Given the description of an element on the screen output the (x, y) to click on. 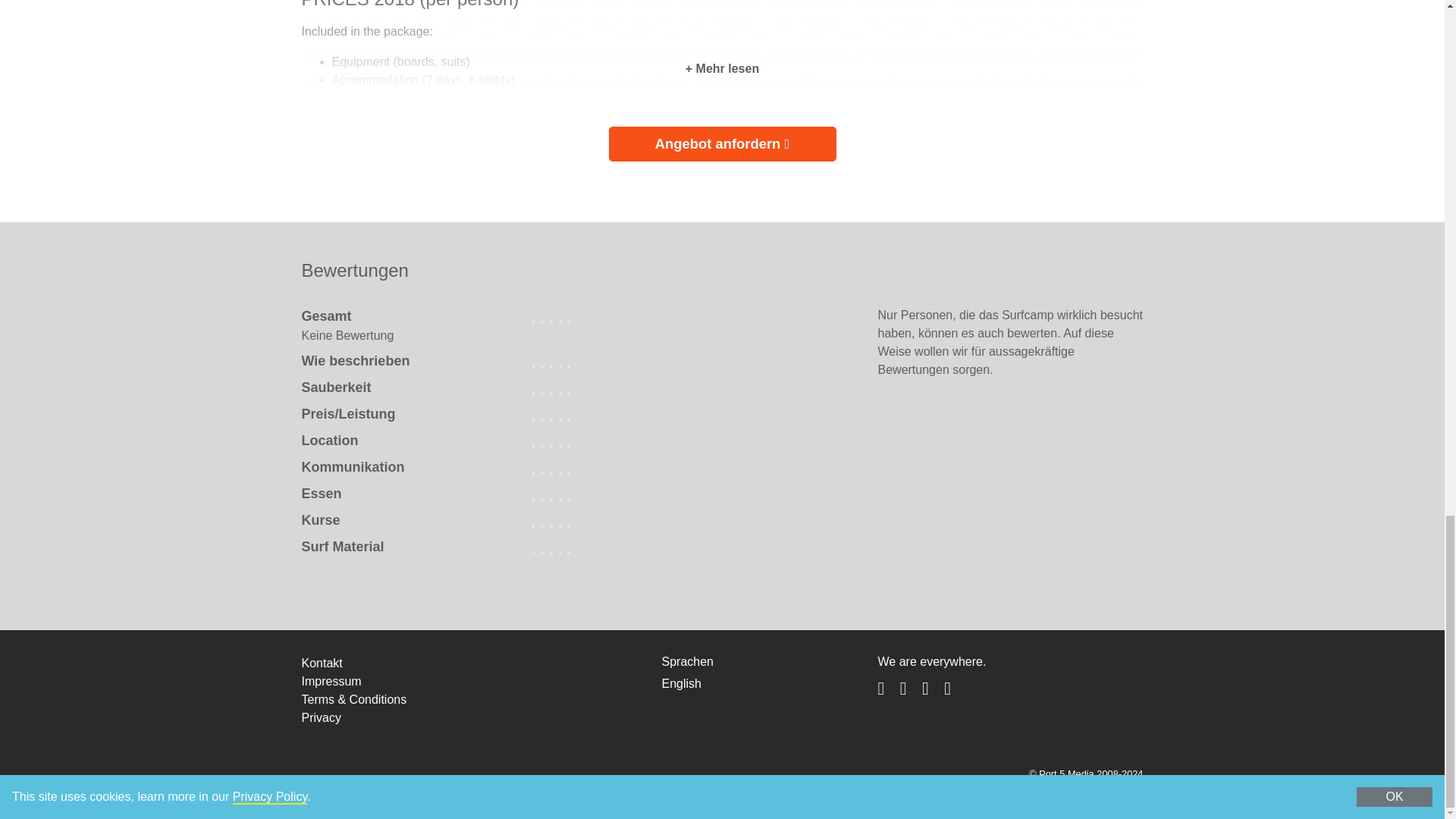
English (680, 683)
Privacy (320, 717)
Impressum (331, 680)
Angebot anfordern (721, 143)
Kontakt (321, 662)
